Given the description of an element on the screen output the (x, y) to click on. 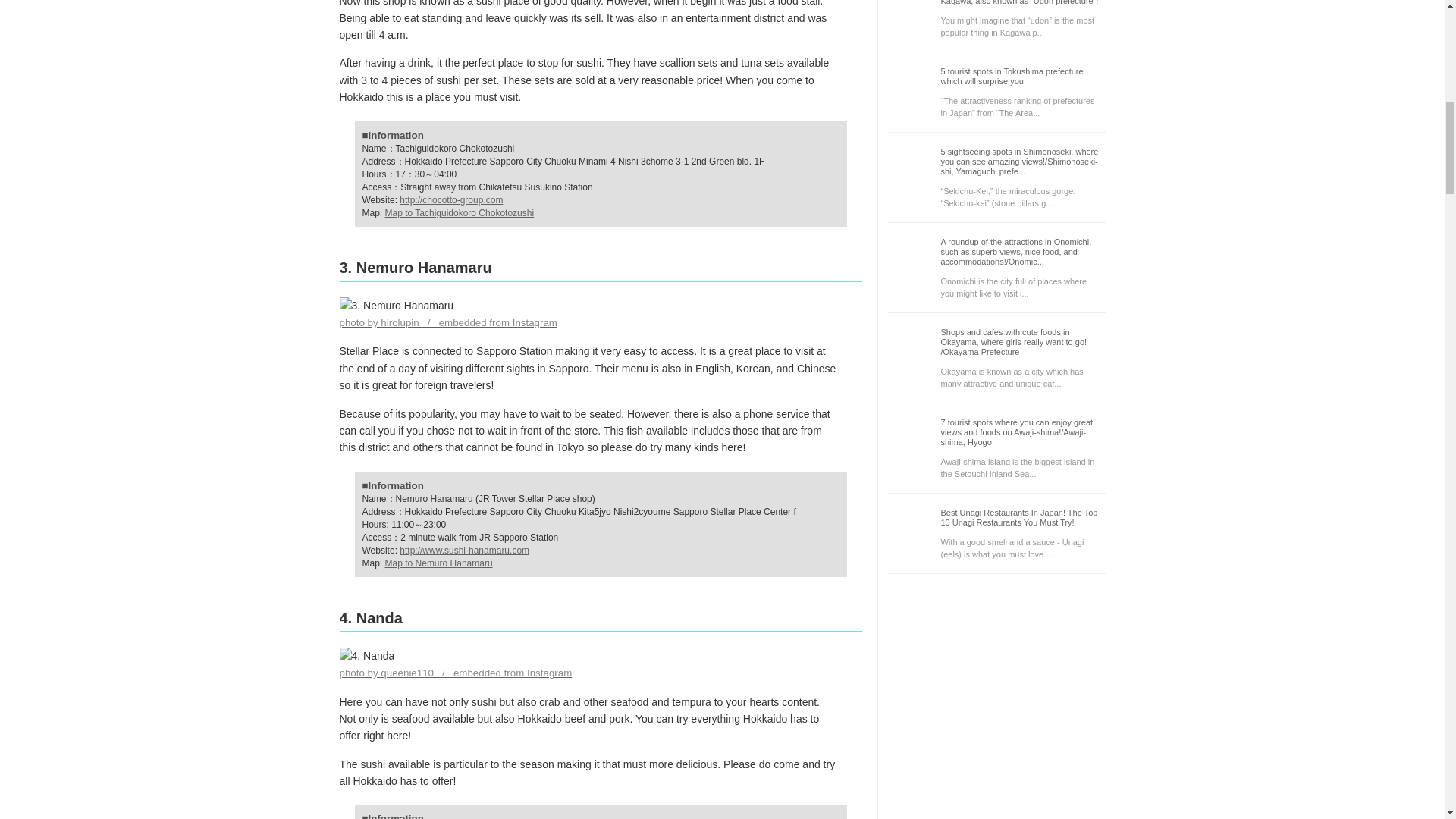
Map to Tachiguidokoro Chokotozushi (459, 213)
3. Nemuro Hanamaru (396, 305)
Map to Nemuro Hanamaru (439, 562)
4. Nanda (366, 655)
